Given the description of an element on the screen output the (x, y) to click on. 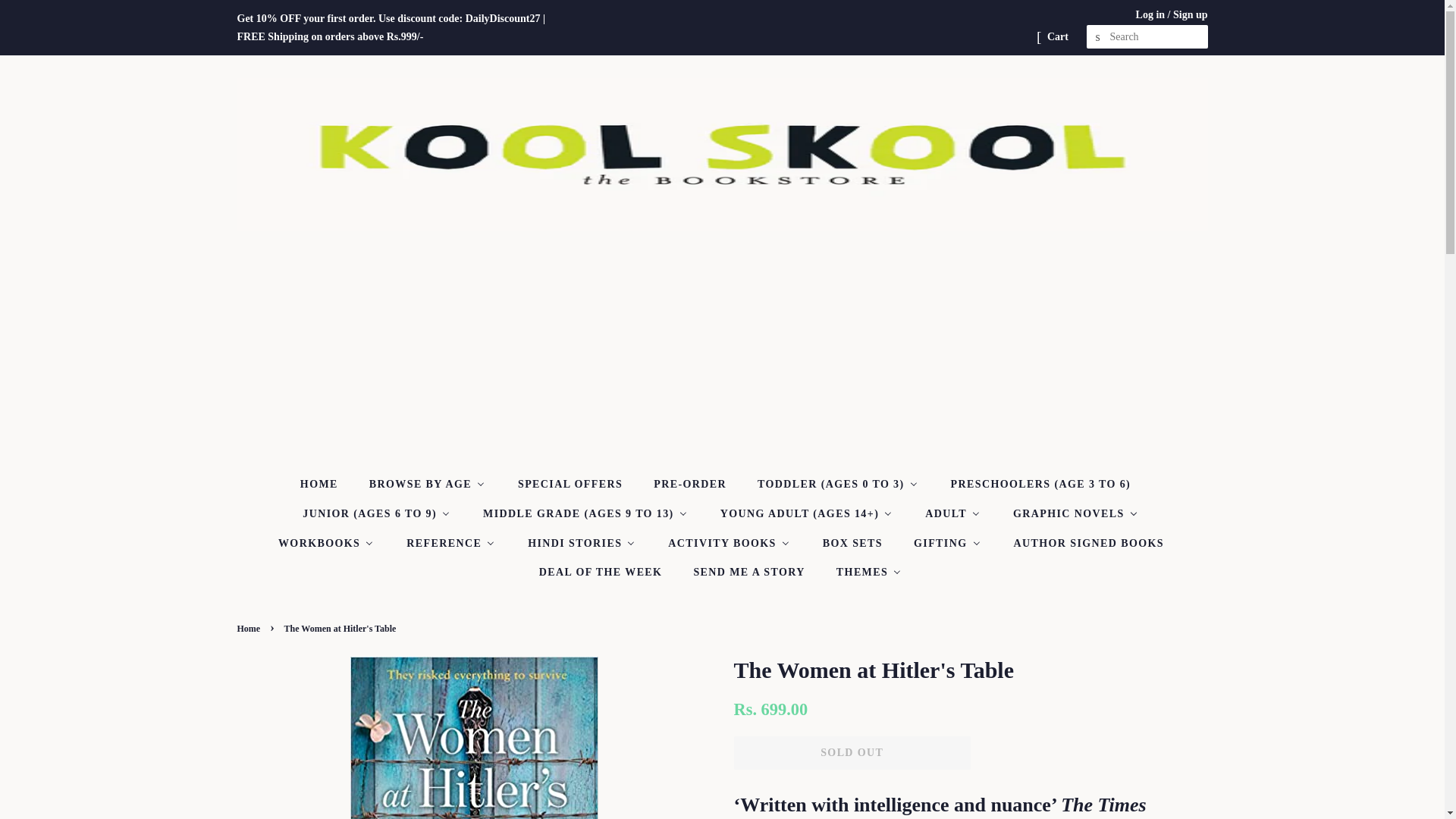
Sign up (1190, 14)
Log in (1150, 14)
SEARCH (1097, 37)
Cart (1057, 36)
